Given the description of an element on the screen output the (x, y) to click on. 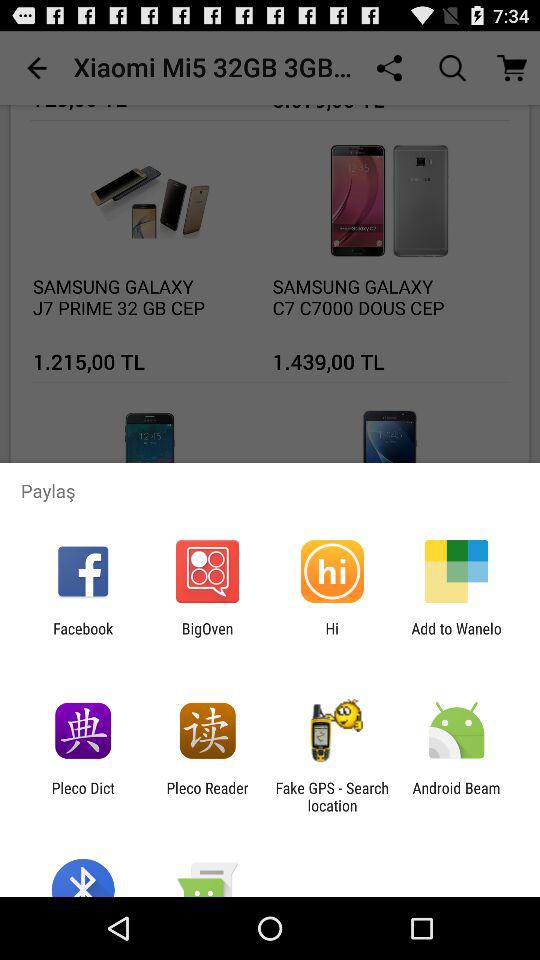
tap icon next to pleco reader icon (82, 796)
